Given the description of an element on the screen output the (x, y) to click on. 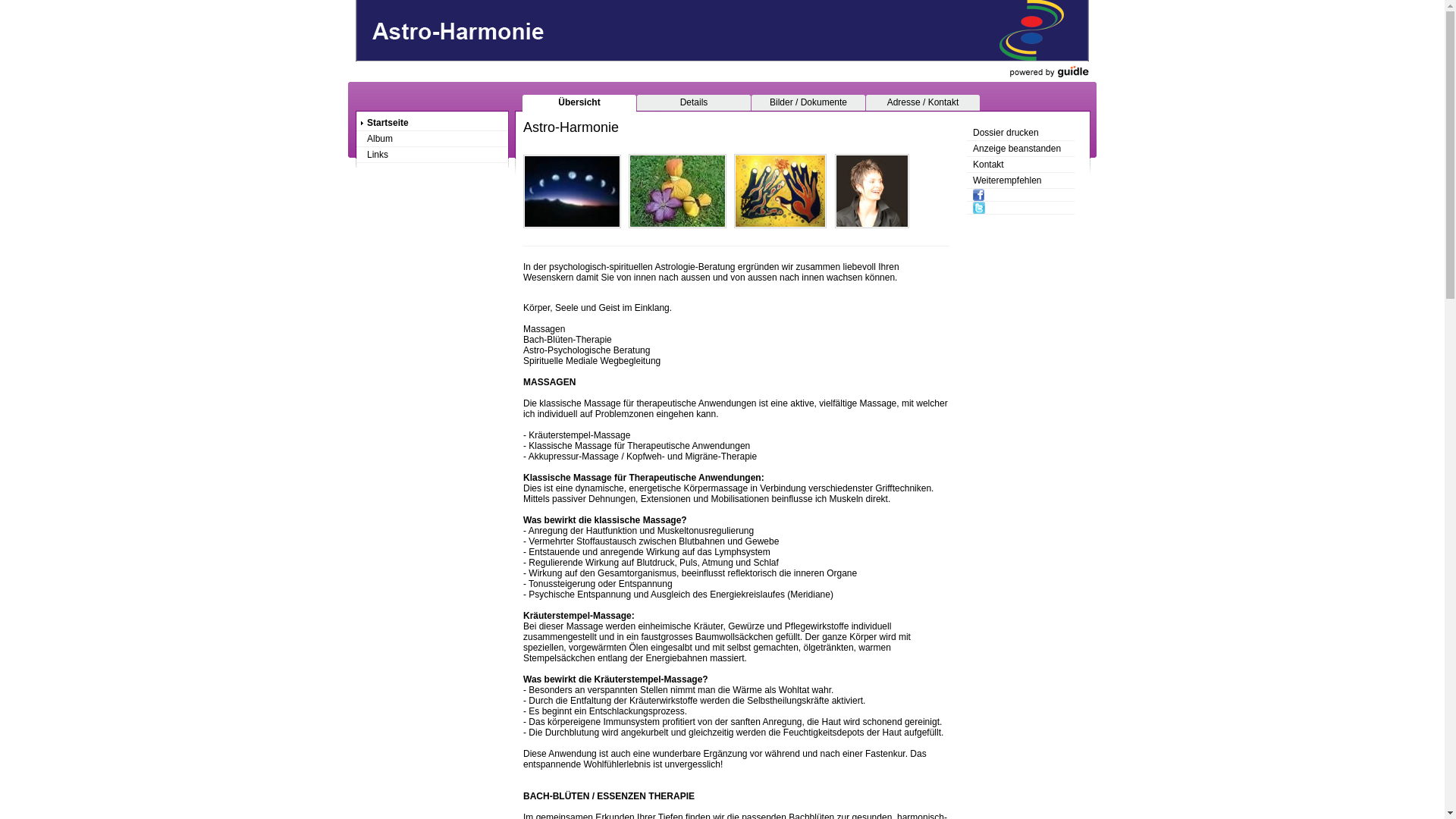
Weiterempfehlen Element type: text (1020, 180)
Bilder / Dokumente Element type: text (808, 101)
Anzeige beanstanden Element type: text (1020, 148)
Album Element type: text (432, 139)
Auf Facebook teilen Element type: hover (1020, 194)
Links Element type: text (432, 155)
Dossier drucken Element type: text (1020, 133)
Adresse / Kontakt Element type: text (922, 101)
Details Element type: text (693, 101)
Kontakt Element type: text (1020, 164)
Startseite Element type: text (432, 123)
Auf X (Twitter) teilen Element type: hover (1020, 207)
